Given the description of an element on the screen output the (x, y) to click on. 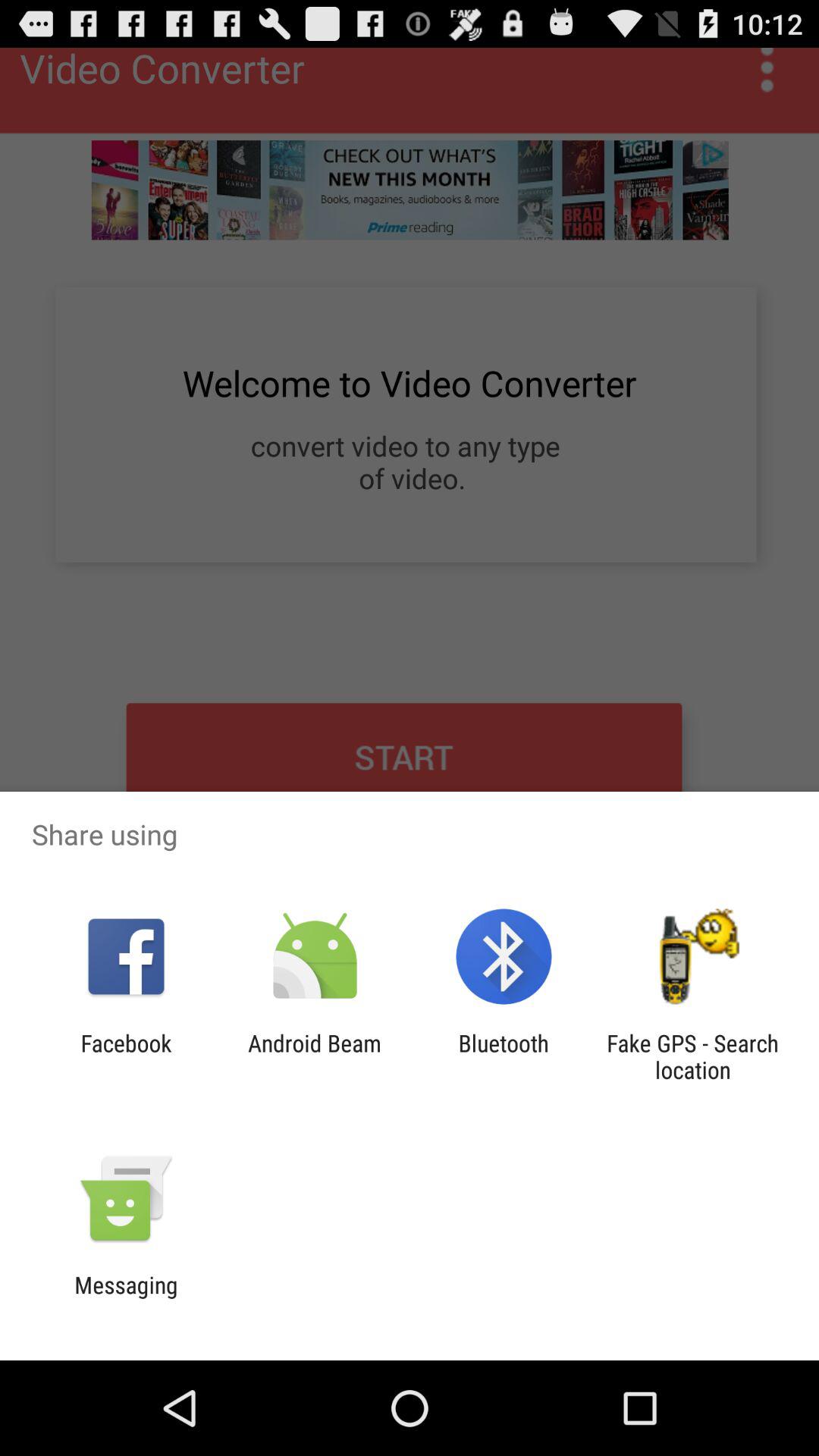
choose app next to facebook app (314, 1056)
